Given the description of an element on the screen output the (x, y) to click on. 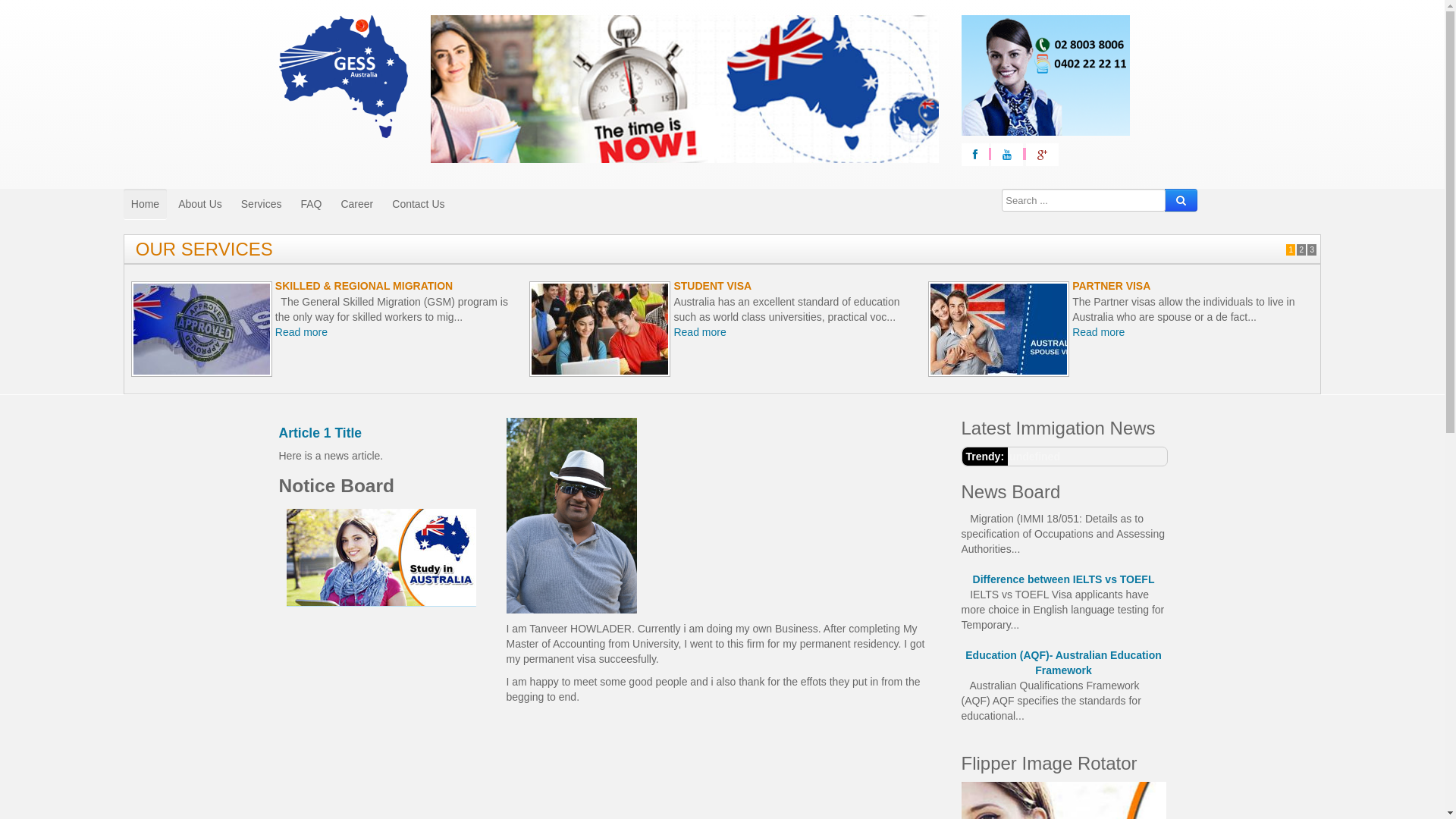
Read more Element type: text (1098, 332)
About Us Element type: text (199, 203)
Contact Us Element type: text (417, 203)
3 Element type: text (1311, 249)
CITIZENSHIP Element type: text (1105, 285)
FAQ Element type: text (310, 203)
ADMINISTRATIVE APPEAL TRIBUNAL Element type: text (769, 285)
VISITOR VISA Element type: text (310, 285)
Read more Element type: text (301, 332)
1 Element type: text (1290, 249)
Home Element type: text (144, 203)
Student Visa Element type: hover (599, 329)
Difference between IELTS vs TOEFL Element type: text (1063, 666)
Services Element type: text (261, 203)
Education (AQF)- Australian Education Framework Element type: text (1063, 749)
Read more Element type: text (699, 347)
Skilled  & Regional Migration Element type: hover (201, 329)
2 Element type: text (1300, 249)
Partner Visa Element type: hover (998, 329)
Career Element type: text (356, 203)
Article 1 Title Element type: text (320, 432)
